Given the description of an element on the screen output the (x, y) to click on. 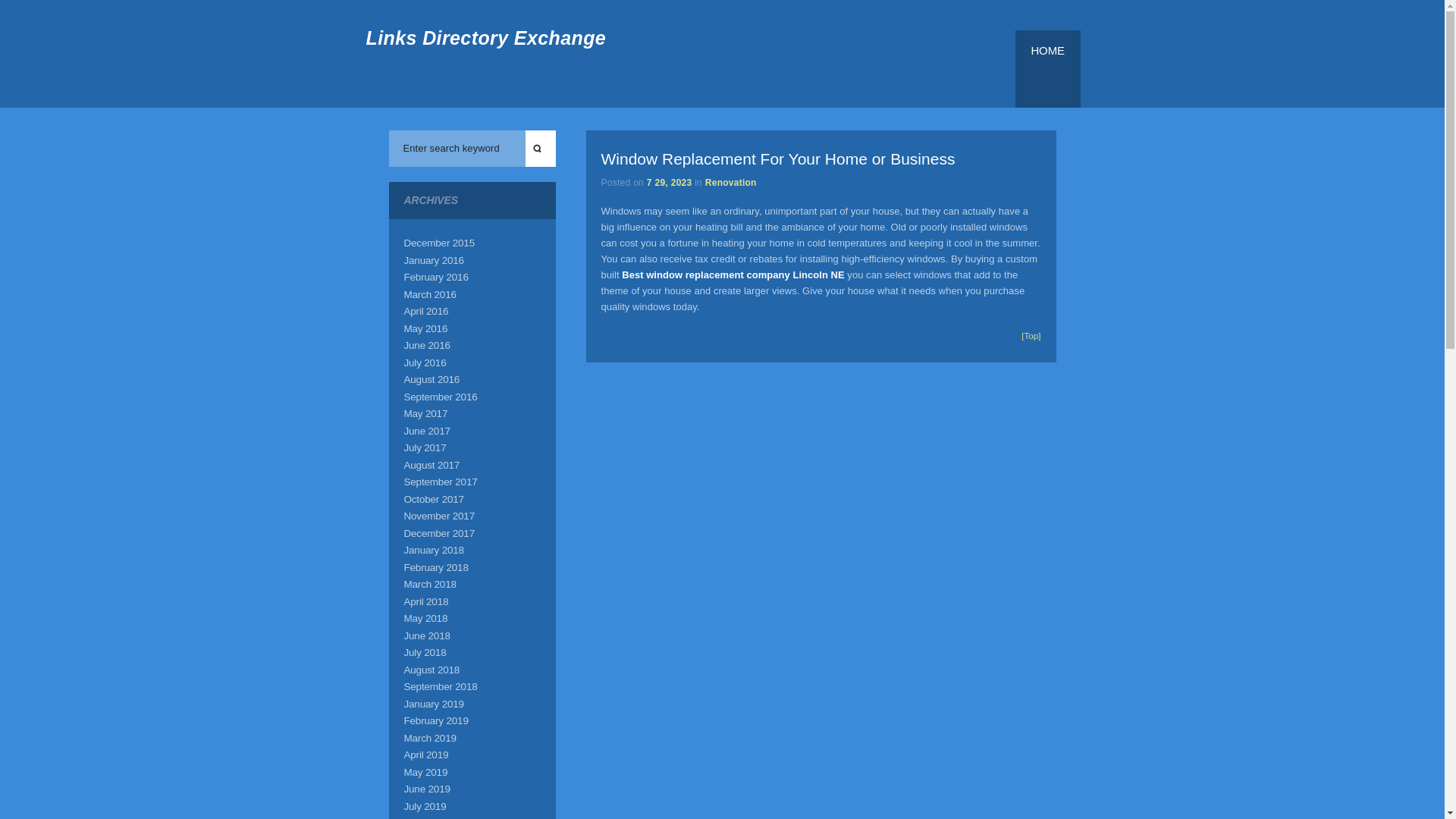
August 2018 (431, 669)
May 2019 (424, 771)
June 2018 (426, 634)
November 2017 (438, 515)
April 2016 (425, 310)
July 2016 (424, 361)
July 2017 (424, 447)
April 2018 (425, 601)
Links Directory Exchange (485, 37)
March 2016 (429, 293)
